Given the description of an element on the screen output the (x, y) to click on. 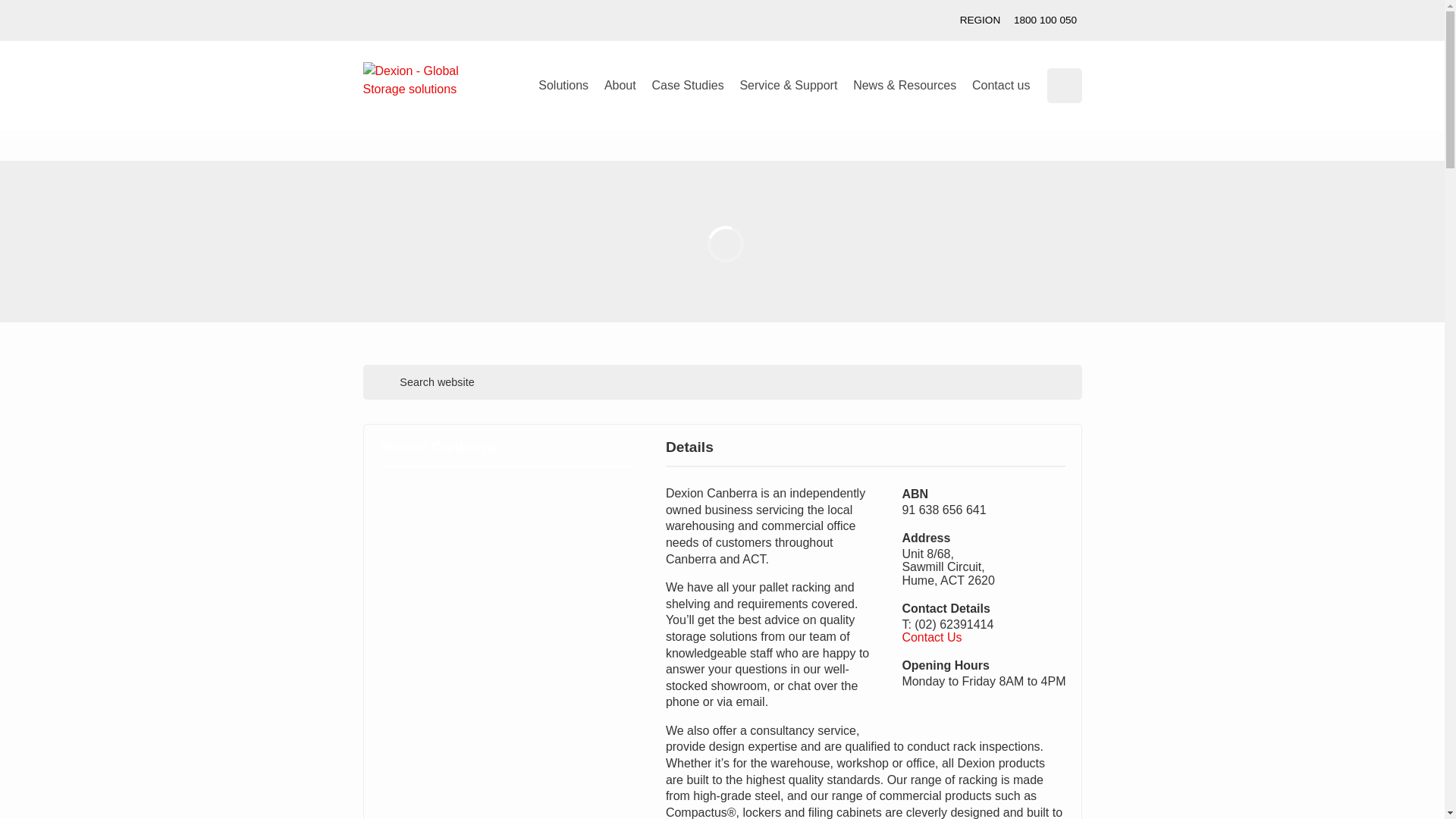
Service & Support Element type: text (788, 85)
REGION Element type: text (980, 20)
1800 100 050 Element type: text (1045, 20)
Contact us Element type: text (1001, 85)
Contact Us Element type: text (931, 636)
About Element type: text (619, 85)
Dexion - Global Storage solutions Element type: hover (422, 80)
News & Resources Element type: text (904, 85)
Contact us Element type: text (62, 288)
Solutions Element type: text (563, 85)
Case Studies Element type: text (687, 85)
